Given the description of an element on the screen output the (x, y) to click on. 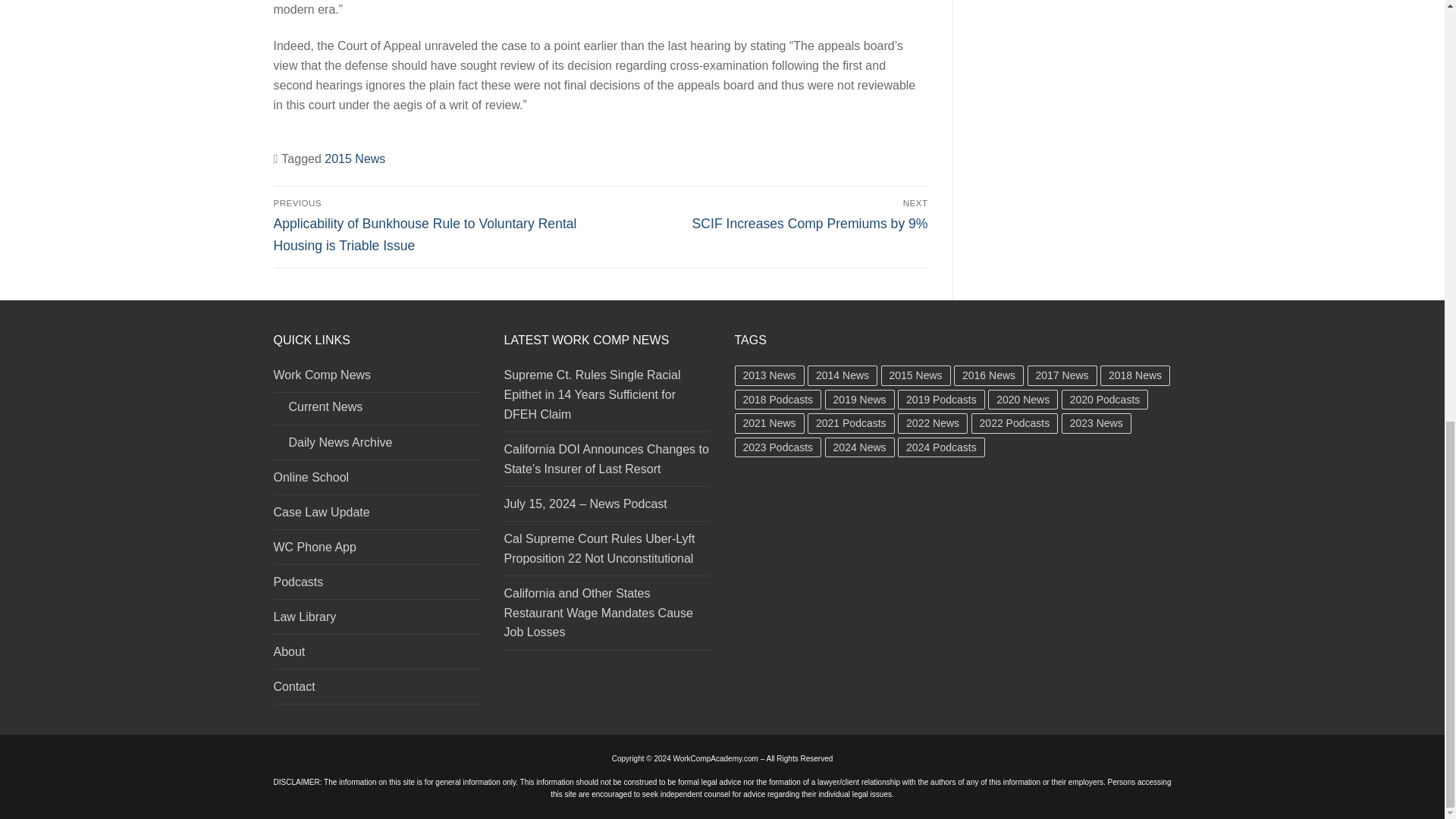
Daily News Archive (376, 446)
2015 News (354, 158)
Work Comp News  (376, 379)
Current News (376, 411)
